Given the description of an element on the screen output the (x, y) to click on. 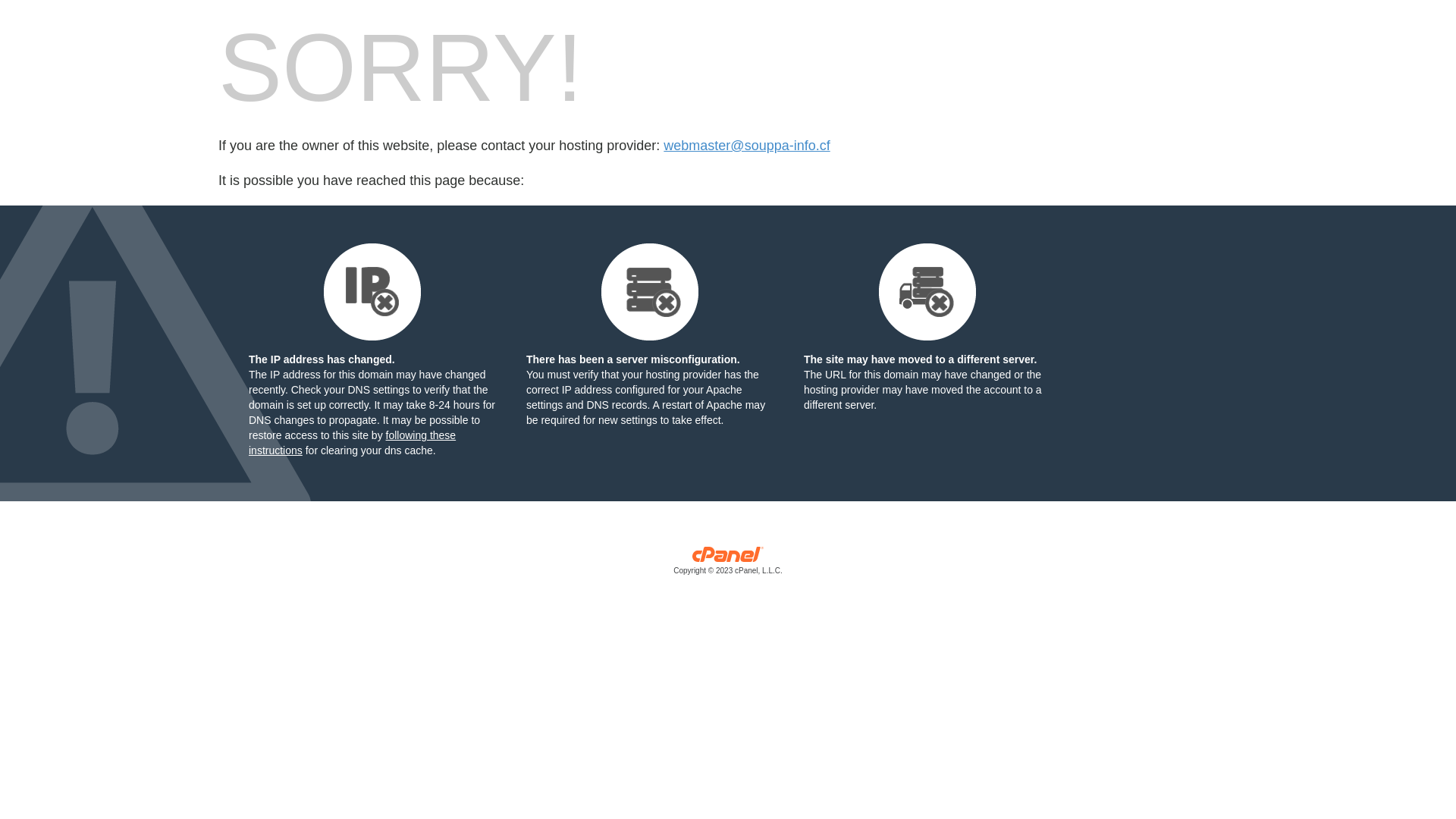
webmaster@souppa-info.cf Element type: text (746, 145)
following these instructions Element type: text (351, 442)
